Given the description of an element on the screen output the (x, y) to click on. 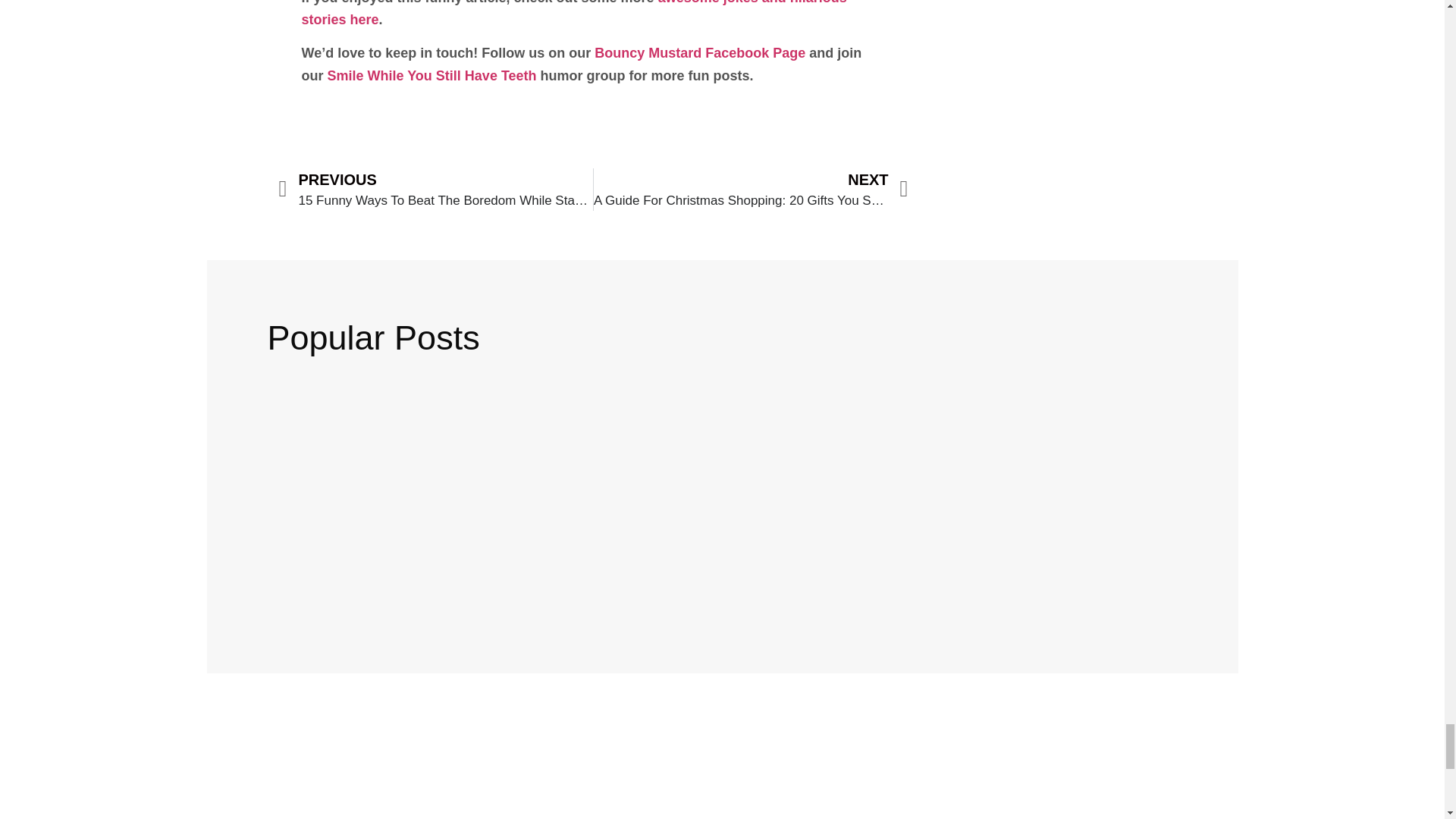
 awesome jokes and hilarious stories here (574, 13)
Smile While You Still Have Teeth (432, 75)
Bouncy Mustard Facebook Page (699, 52)
